Given the description of an element on the screen output the (x, y) to click on. 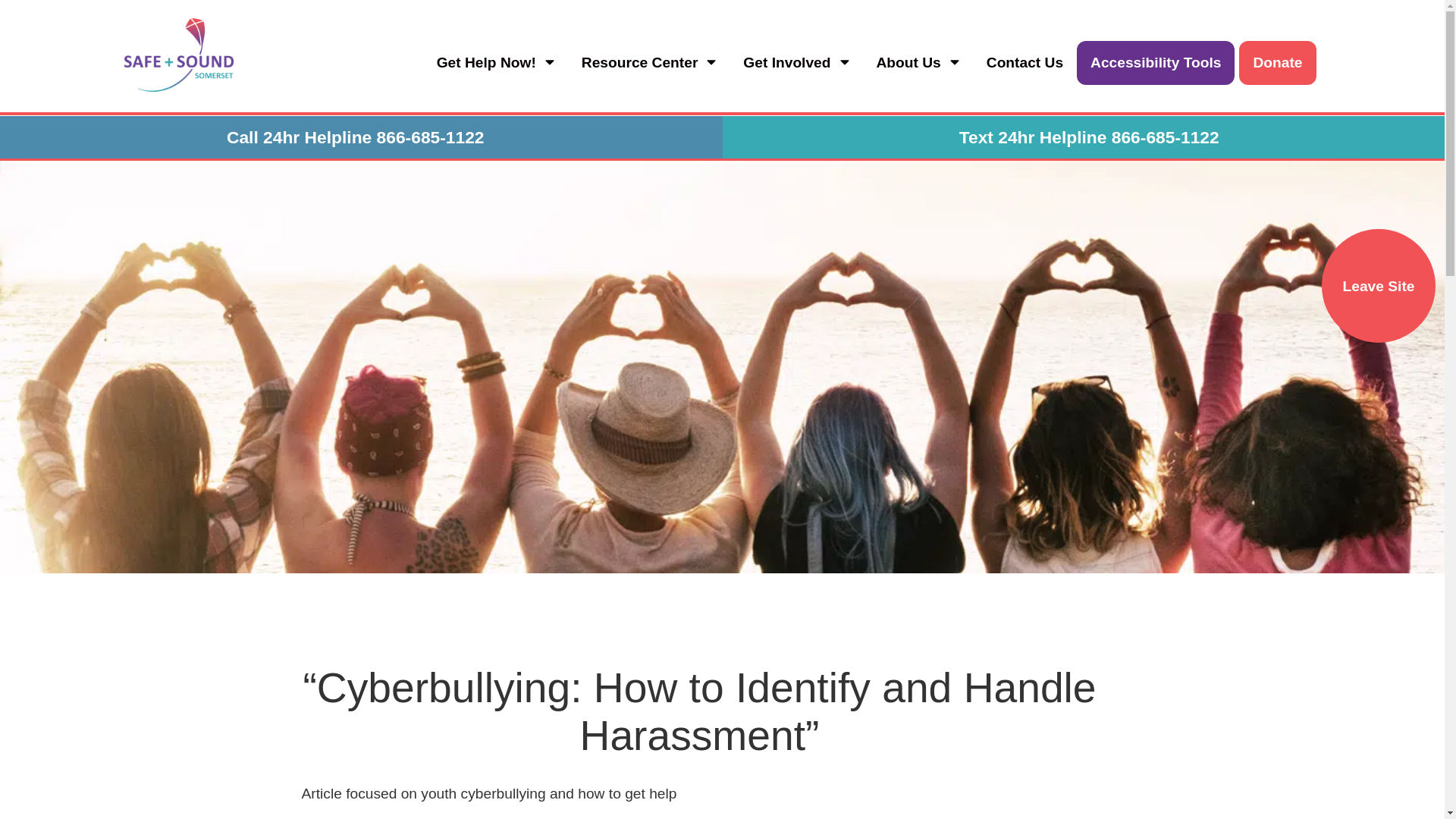
Get Help Now! (495, 62)
About Us (917, 62)
Resource Center (648, 62)
Accessibility Tools (1155, 62)
Get Involved (795, 62)
Contact Us (1024, 62)
Donate (1276, 62)
Contact Us (1088, 16)
Text 24hr Helpline 866-685-1122 (1089, 137)
Call 24hr Helpline 866-685-1122 (355, 137)
Donate Now (958, 16)
